Given the description of an element on the screen output the (x, y) to click on. 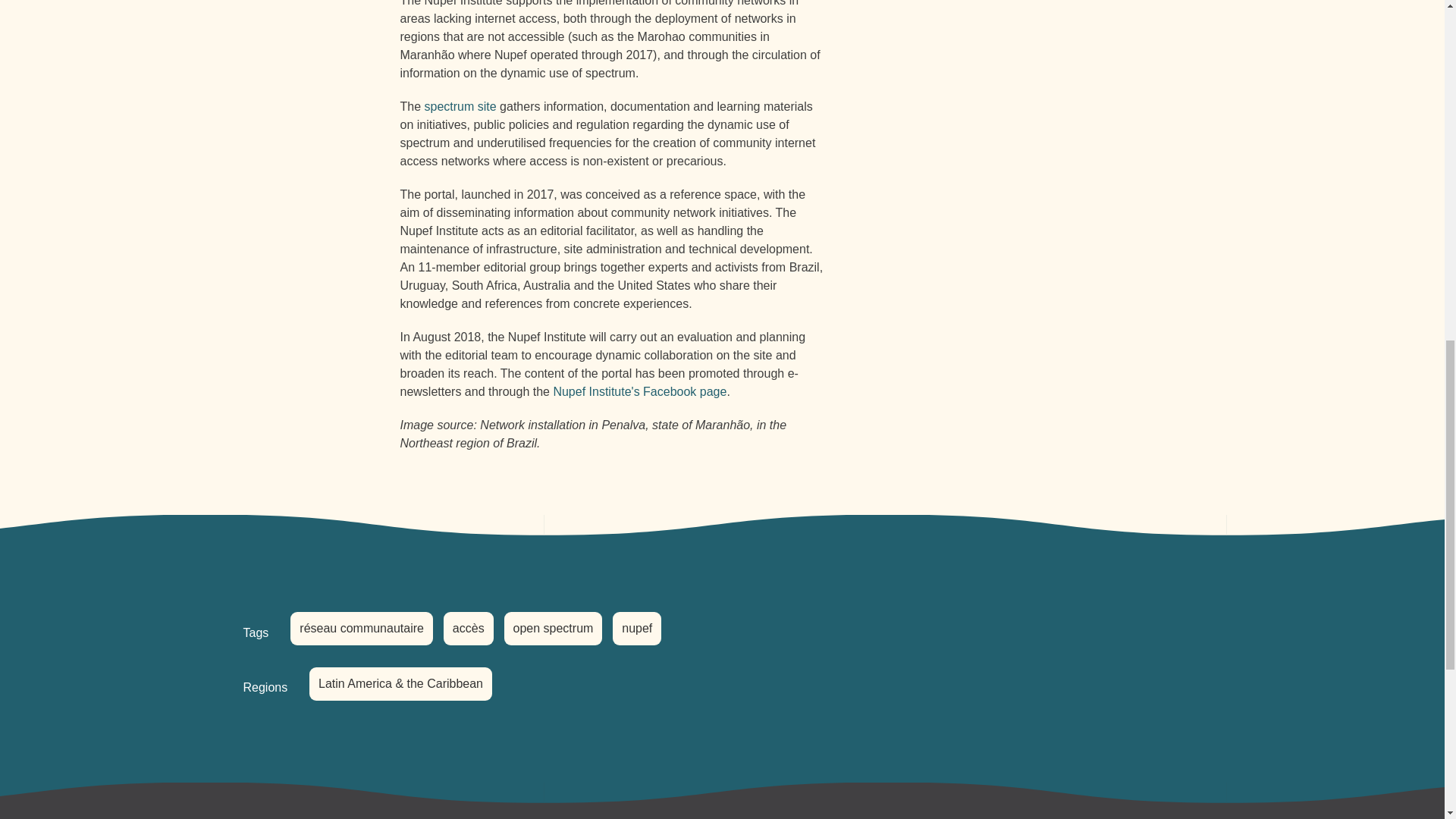
open spectrum (552, 628)
Nupef Institute's Facebook page (639, 391)
spectrum site (460, 106)
